Given the description of an element on the screen output the (x, y) to click on. 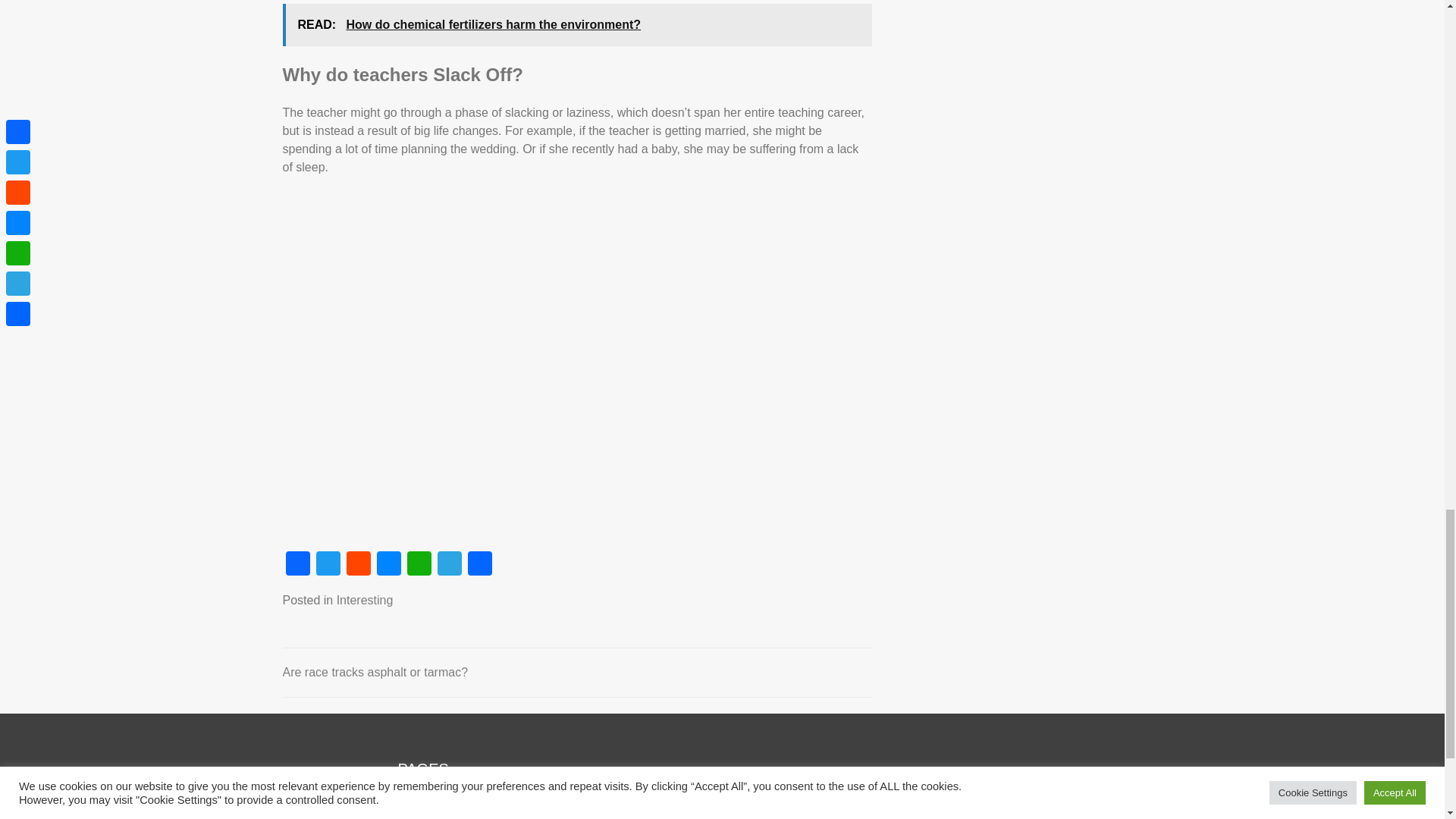
Share (479, 565)
Twitter (327, 565)
Messenger (387, 565)
Are race tracks asphalt or tarmac? (374, 671)
READ:   How do chemical fertilizers harm the environment? (576, 24)
Telegram (448, 565)
Messenger (387, 565)
Twitter (327, 565)
Telegram (448, 565)
Facebook (297, 565)
Interesting (364, 599)
Reddit (357, 565)
WhatsApp (418, 565)
Reddit (357, 565)
